Given the description of an element on the screen output the (x, y) to click on. 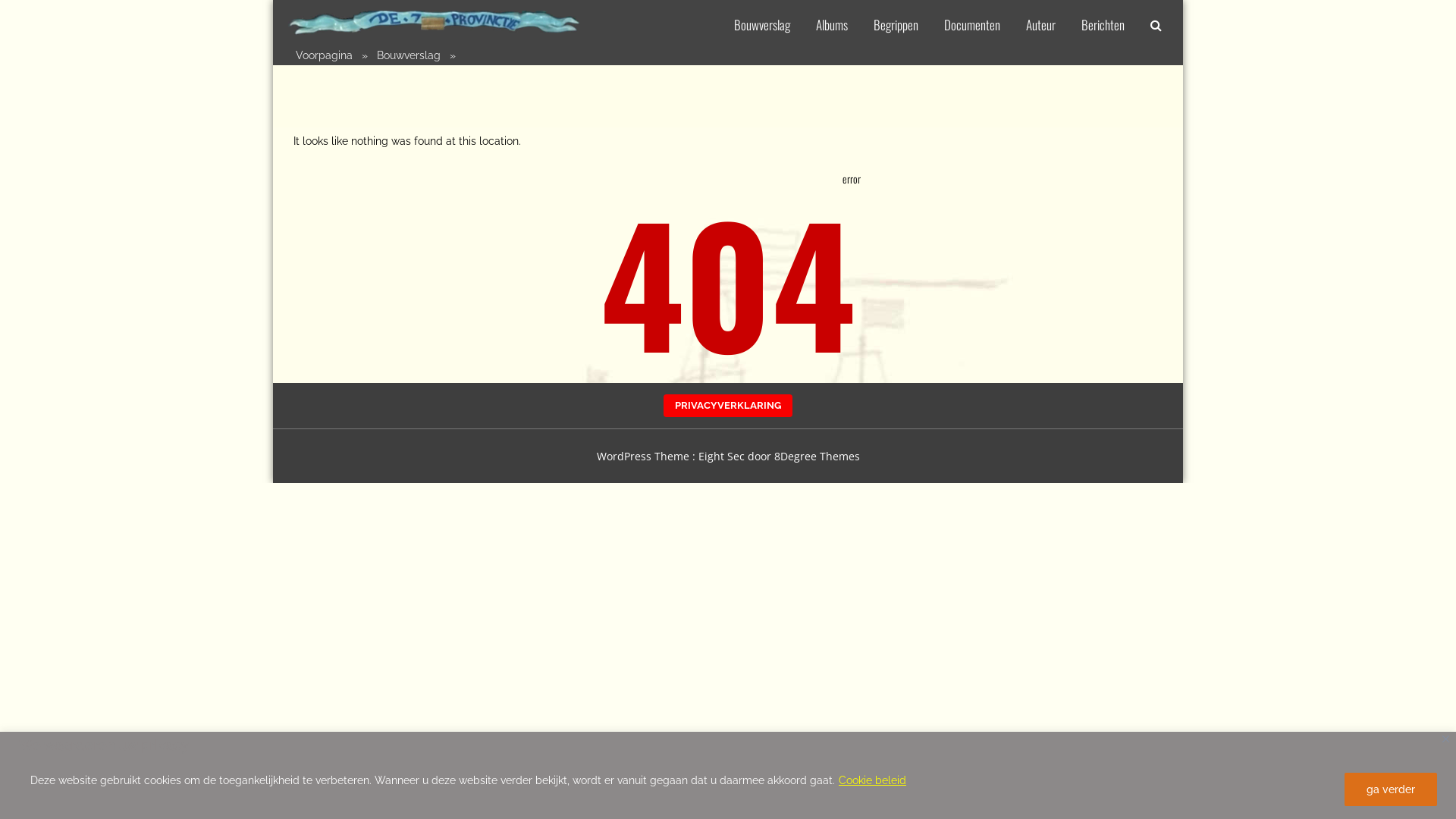
Albums Element type: text (831, 20)
Auteur Element type: text (1040, 20)
Skip to content Element type: text (273, 0)
ga verder Element type: text (1390, 788)
Bouwverslag Element type: text (761, 20)
Cookie beleid Element type: text (871, 780)
 PRIVACYVERKLARING  Element type: text (727, 405)
zoeken Element type: text (975, 394)
Begrippen Element type: text (895, 20)
Documenten Element type: text (971, 20)
Voorpagina Element type: text (323, 55)
Bouwverslag Element type: text (409, 55)
Berichten Element type: text (1102, 20)
Eight Sec Element type: text (721, 455)
